Given the description of an element on the screen output the (x, y) to click on. 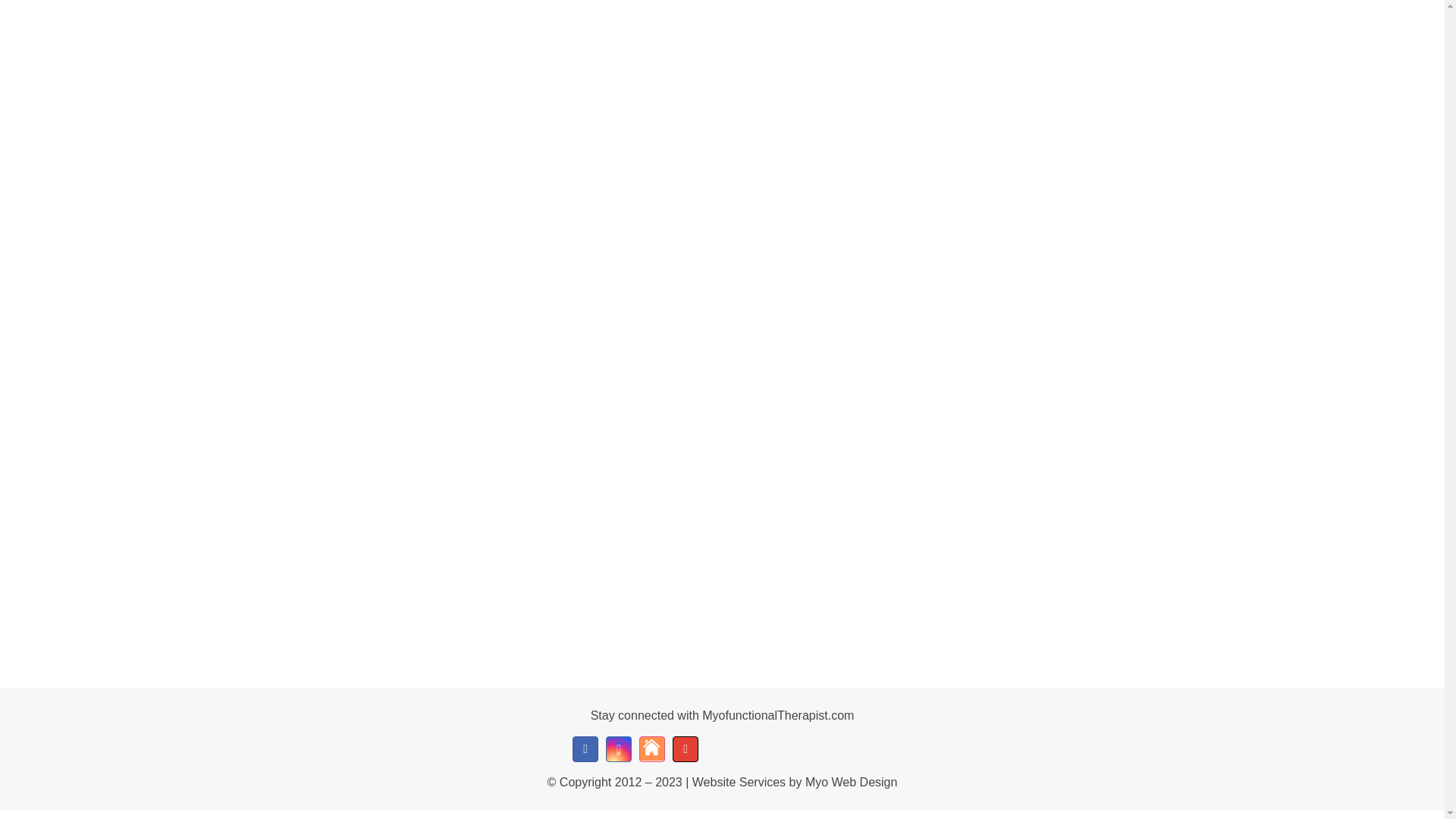
Instagram (618, 749)
Facebook (585, 749)
Dribbble (652, 749)
Email (685, 749)
